Given the description of an element on the screen output the (x, y) to click on. 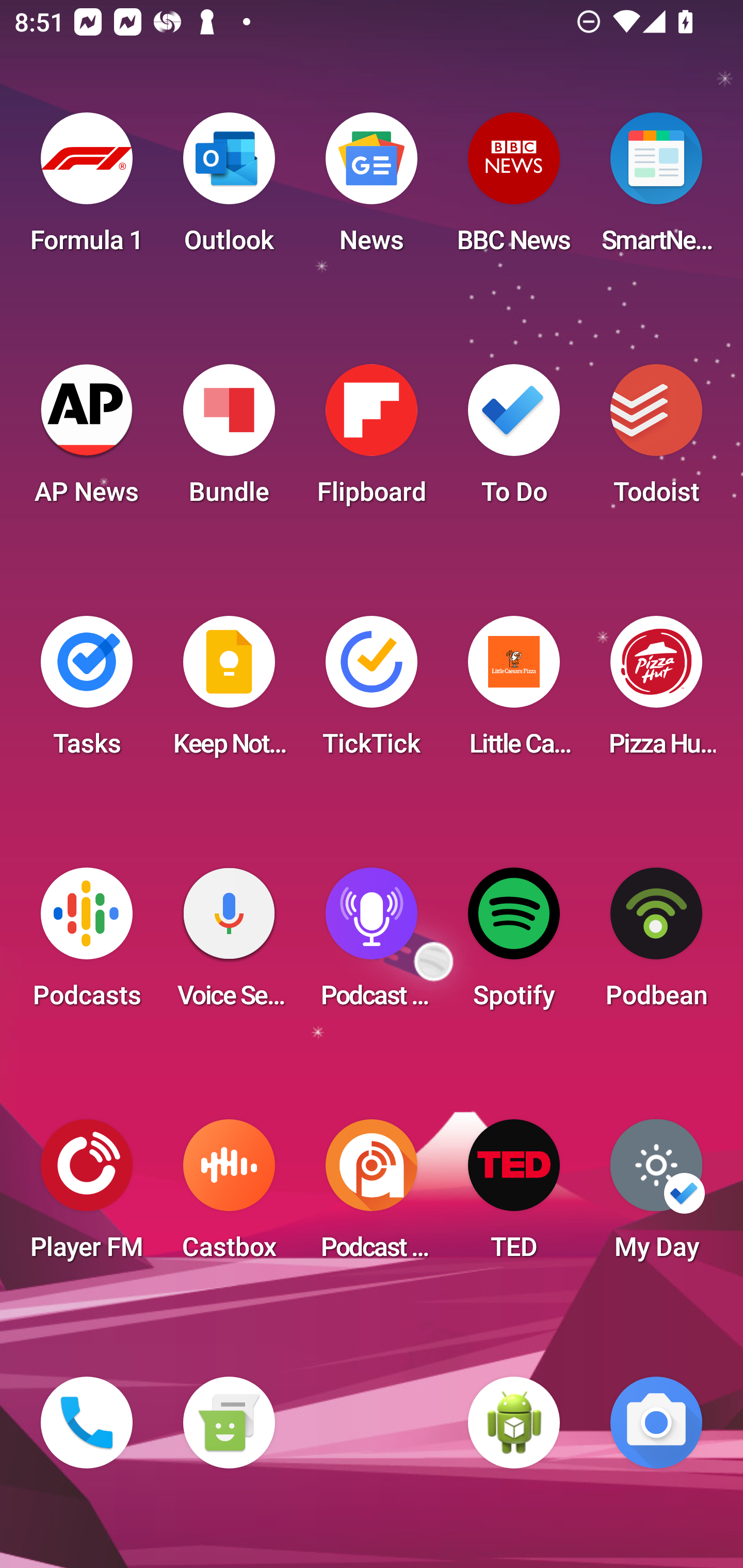
Formula 1 (86, 188)
Outlook (228, 188)
News (371, 188)
BBC News (513, 188)
SmartNews (656, 188)
AP News (86, 440)
Bundle (228, 440)
Flipboard (371, 440)
To Do (513, 440)
Todoist (656, 440)
Tasks (86, 692)
Keep Notes (228, 692)
TickTick (371, 692)
Little Caesars Pizza (513, 692)
Pizza Hut HK & Macau (656, 692)
Podcasts (86, 943)
Voice Search (228, 943)
Podcast Player (371, 943)
Spotify (513, 943)
Podbean (656, 943)
Player FM (86, 1195)
Castbox (228, 1195)
Podcast Addict (371, 1195)
TED (513, 1195)
My Day (656, 1195)
Phone (86, 1422)
Messaging (228, 1422)
WebView Browser Tester (513, 1422)
Camera (656, 1422)
